Given the description of an element on the screen output the (x, y) to click on. 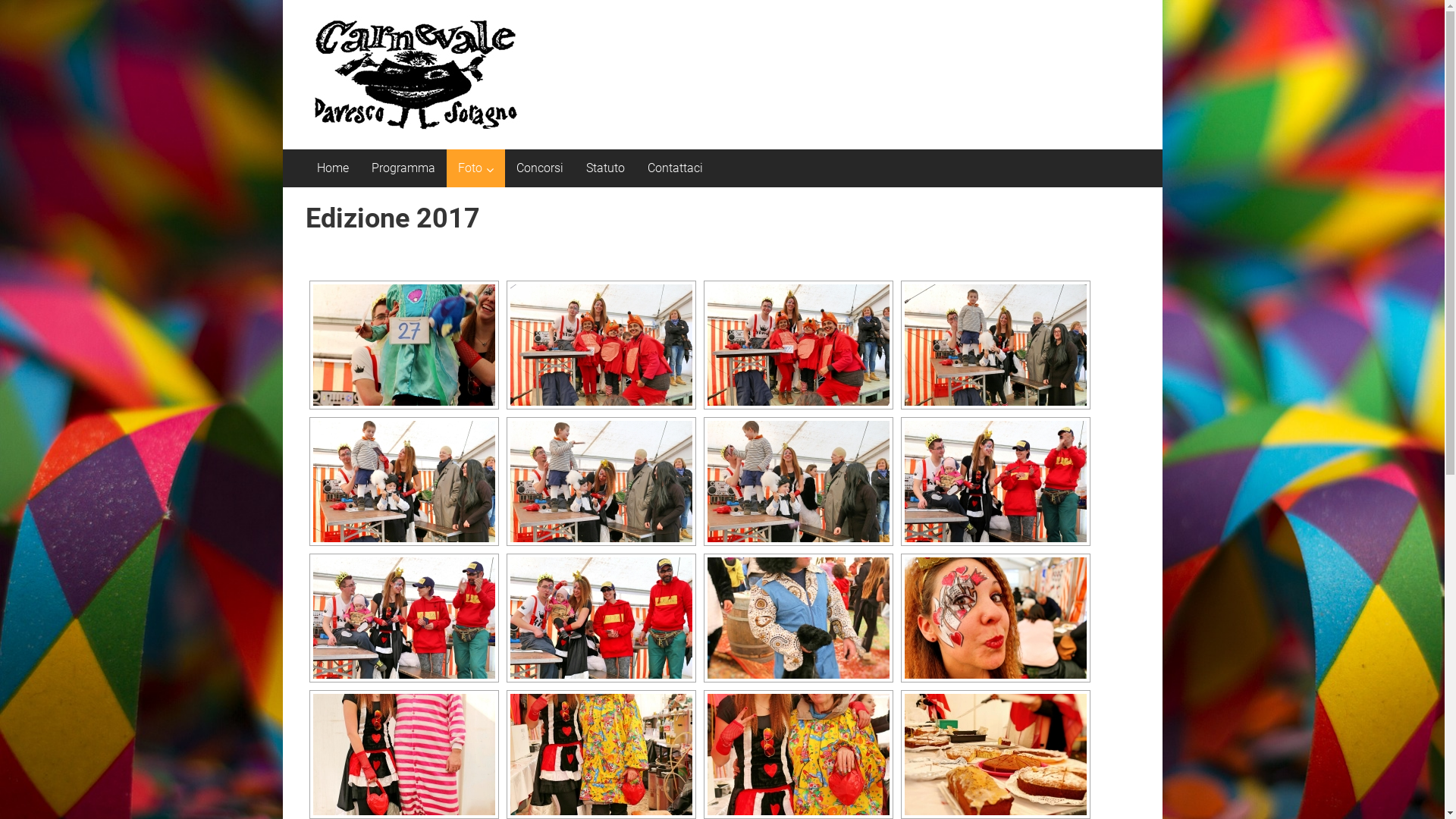
carnevale_2017 (46) Element type: hover (797, 481)
Statuto Element type: text (604, 168)
carnevale_2017 (42) Element type: hover (797, 344)
Programma Element type: text (403, 168)
Contattaci Element type: text (674, 168)
Foto Element type: text (470, 168)
carnevale_2017 (51) Element type: hover (994, 617)
carnevale_2017 (40) Element type: hover (403, 344)
carnevale_2017 (43) Element type: hover (994, 344)
Concorsi Element type: text (538, 168)
carnevale_2017 (45) Element type: hover (600, 481)
carnevale_2017 (44) Element type: hover (403, 481)
carnevale_2017 (48) Element type: hover (403, 617)
carnevale_2017 (50) Element type: hover (797, 617)
Home Element type: text (332, 168)
carnevale_2017 (49) Element type: hover (600, 617)
carnevale_2017 (55) Element type: hover (994, 754)
carnevale_2017 (53) Element type: hover (600, 754)
carnevale_2017 (47) Element type: hover (994, 481)
carnevale_2017 (54) Element type: hover (797, 754)
carnevale_2017 (41) Element type: hover (600, 344)
carnevale_2017 (52) Element type: hover (403, 754)
